Given the description of an element on the screen output the (x, y) to click on. 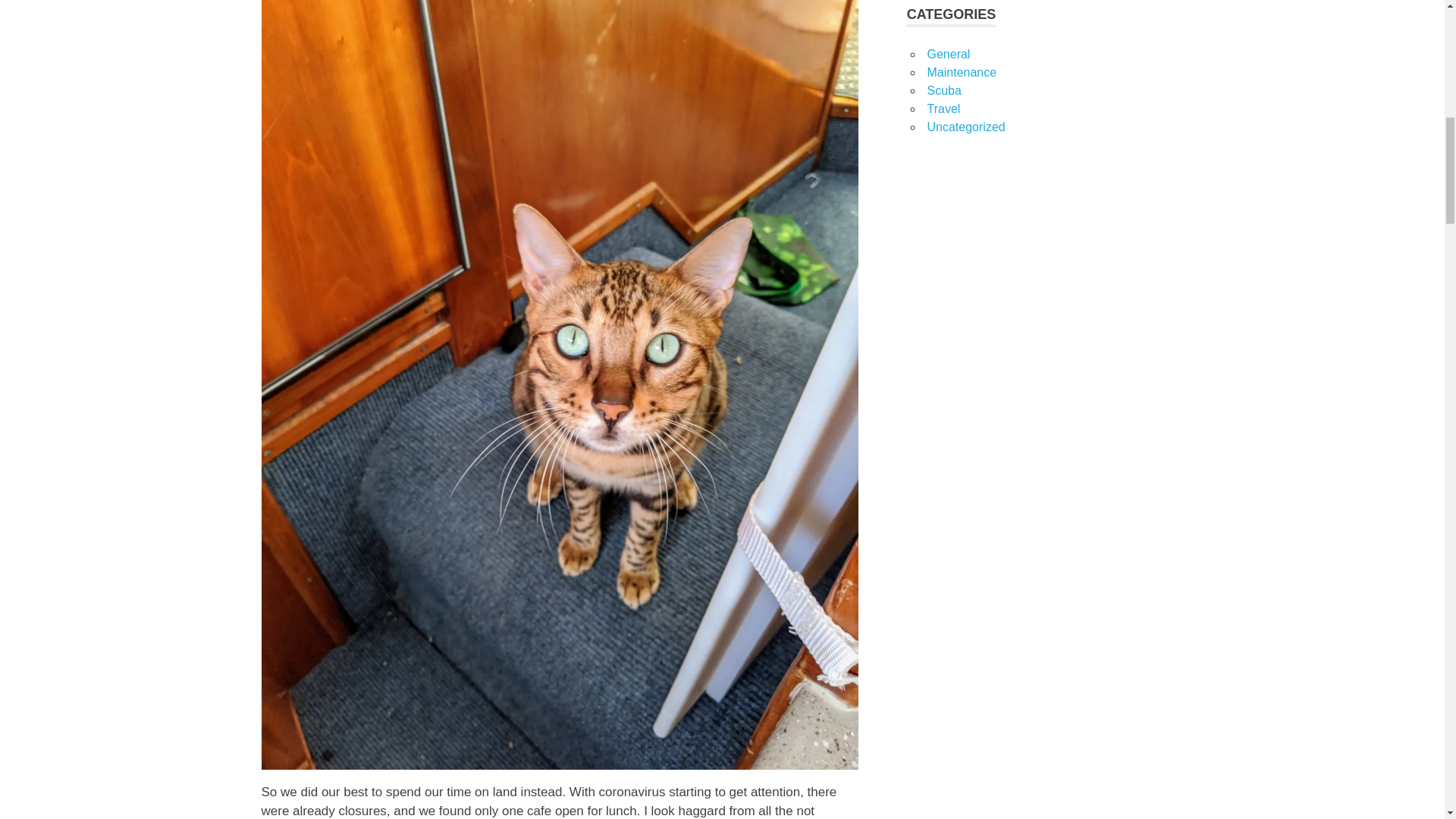
General (947, 53)
Maintenance (960, 72)
Travel (942, 108)
Uncategorized (965, 126)
Scuba (943, 90)
